Given the description of an element on the screen output the (x, y) to click on. 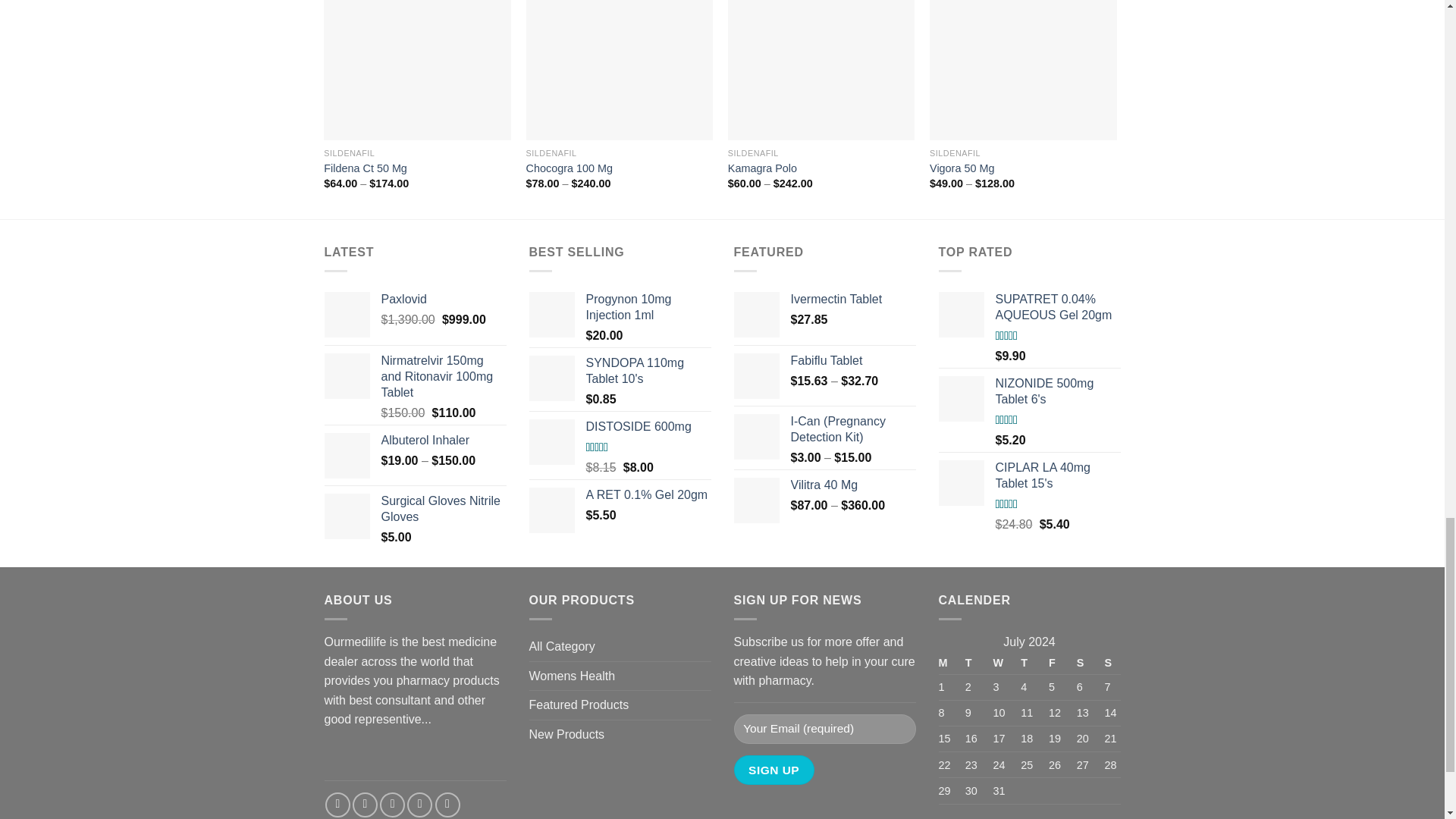
Sign Up (773, 769)
